Given the description of an element on the screen output the (x, y) to click on. 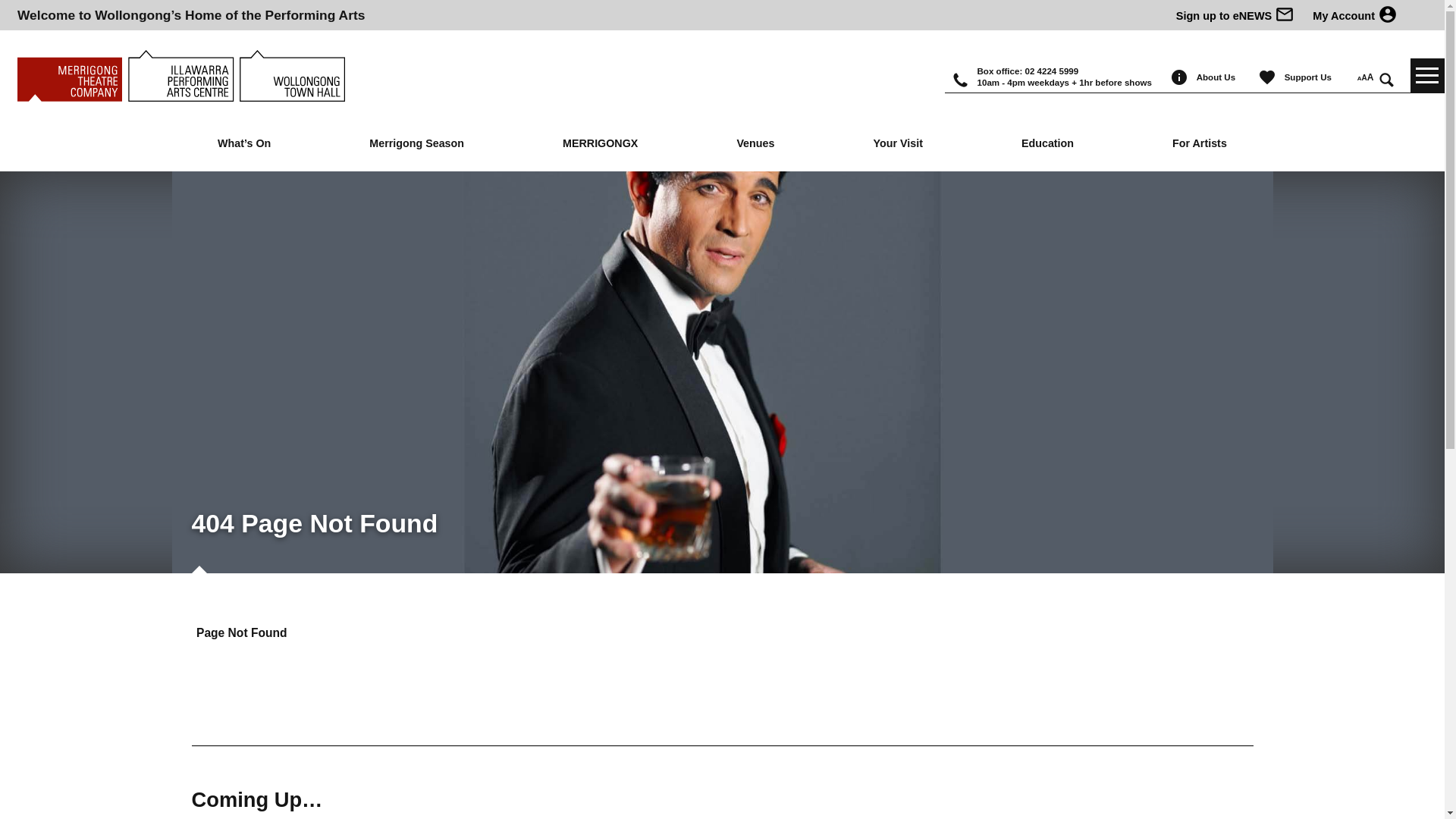
Education Element type: text (1046, 143)
Sign up to eNEWS Element type: text (1225, 15)
A Element type: text (1359, 78)
For Artists Element type: text (1199, 143)
Venues Element type: text (755, 143)
info Element type: text (1183, 83)
Your Visit Element type: text (897, 143)
A Element type: text (1370, 77)
A Element type: text (1364, 77)
Support Us Element type: text (1310, 77)
favorite Element type: text (1271, 83)
Merrigong Season Element type: text (416, 143)
My Account Element type: text (1337, 15)
mail_outline Element type: text (1284, 20)
About Us Element type: text (1217, 77)
MERRIGONGX Element type: text (599, 143)
account_circle Element type: text (1387, 20)
